Given the description of an element on the screen output the (x, y) to click on. 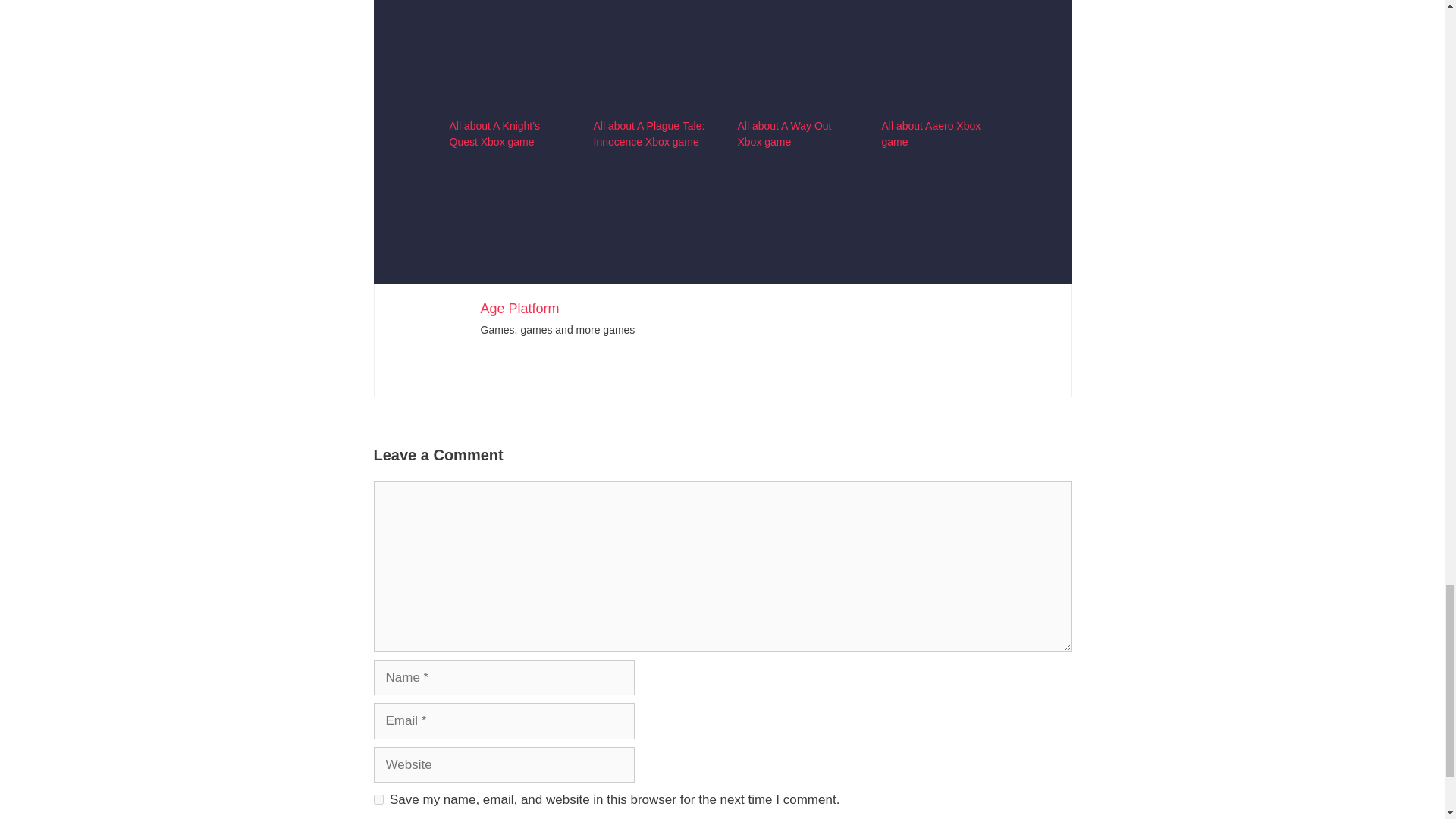
Age Platform (519, 308)
All about A Way Out Xbox game (783, 133)
All about Aaero Xbox game (929, 133)
yes (377, 799)
All about A Plague Tale: Innocence Xbox game (648, 133)
